Given the description of an element on the screen output the (x, y) to click on. 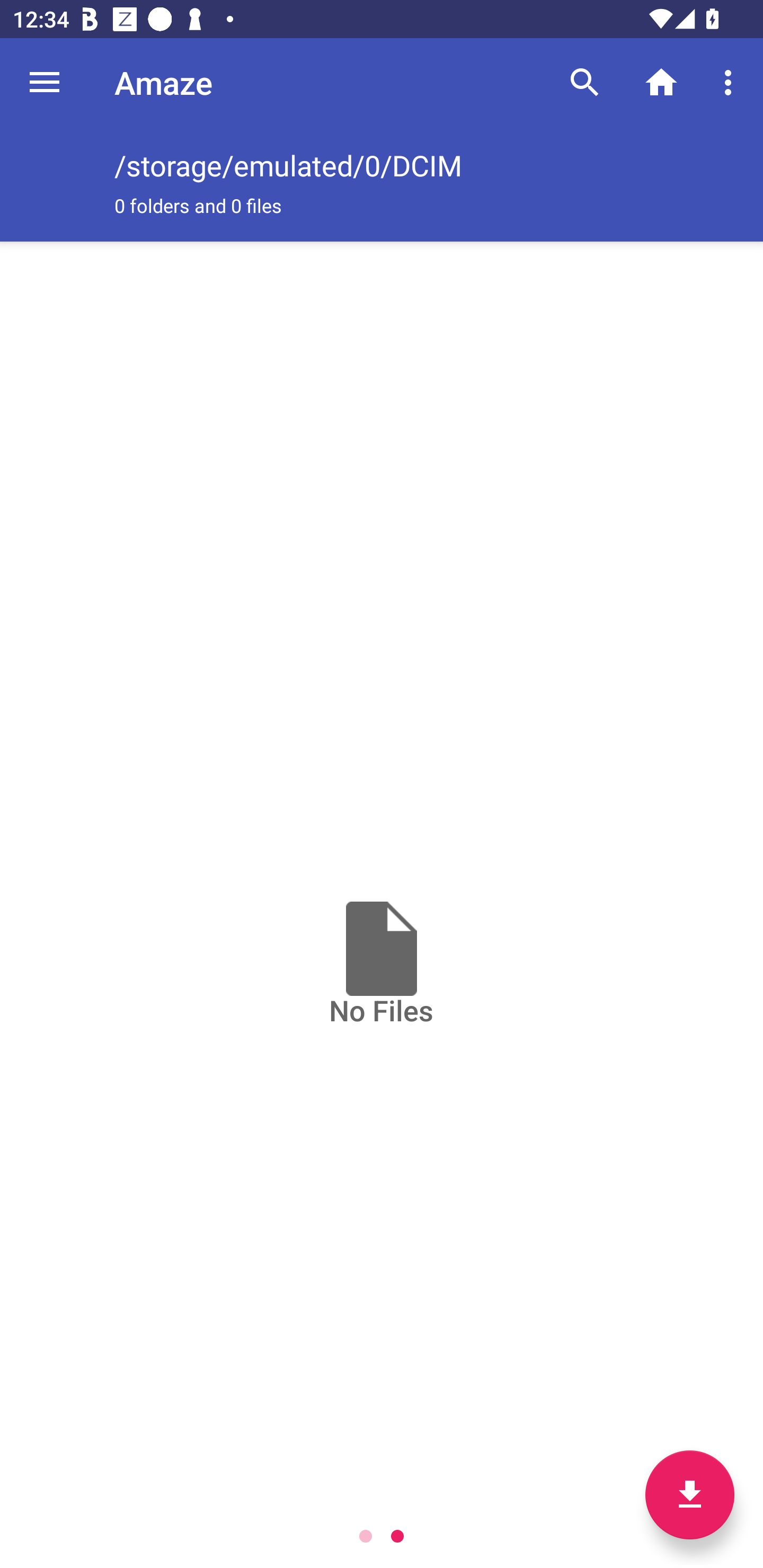
Navigate up (44, 82)
Search (585, 81)
Home (661, 81)
More options (731, 81)
